Given the description of an element on the screen output the (x, y) to click on. 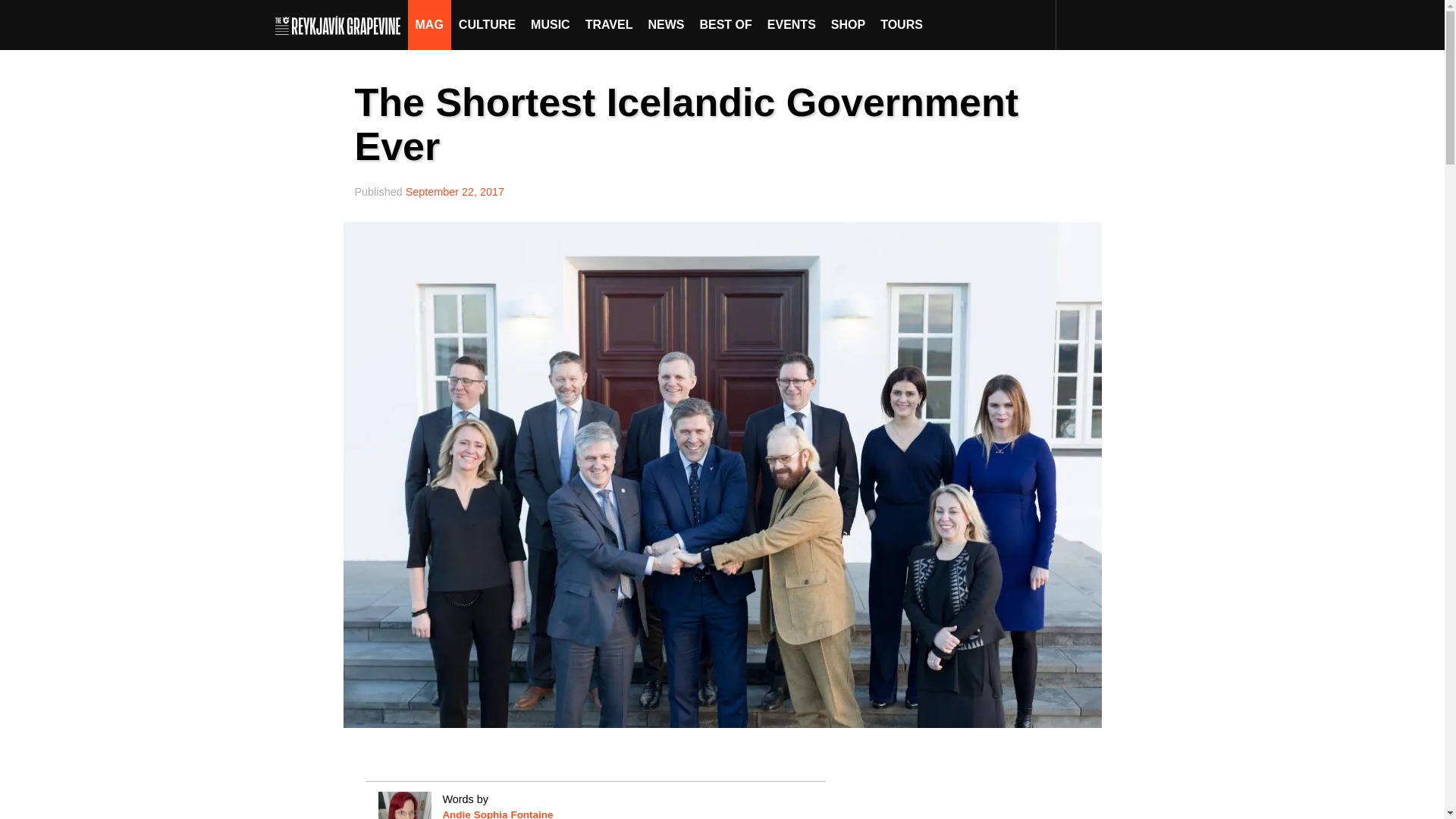
SHOP (848, 24)
NEWS (665, 24)
The Reykjavik Grapevine (341, 24)
EVENTS (792, 24)
TRAVEL (609, 24)
BEST OF (724, 24)
Posts by Andie Sophia Fontaine (497, 814)
TOURS (901, 24)
CULTURE (486, 24)
Andie Sophia Fontaine (497, 814)
